Given the description of an element on the screen output the (x, y) to click on. 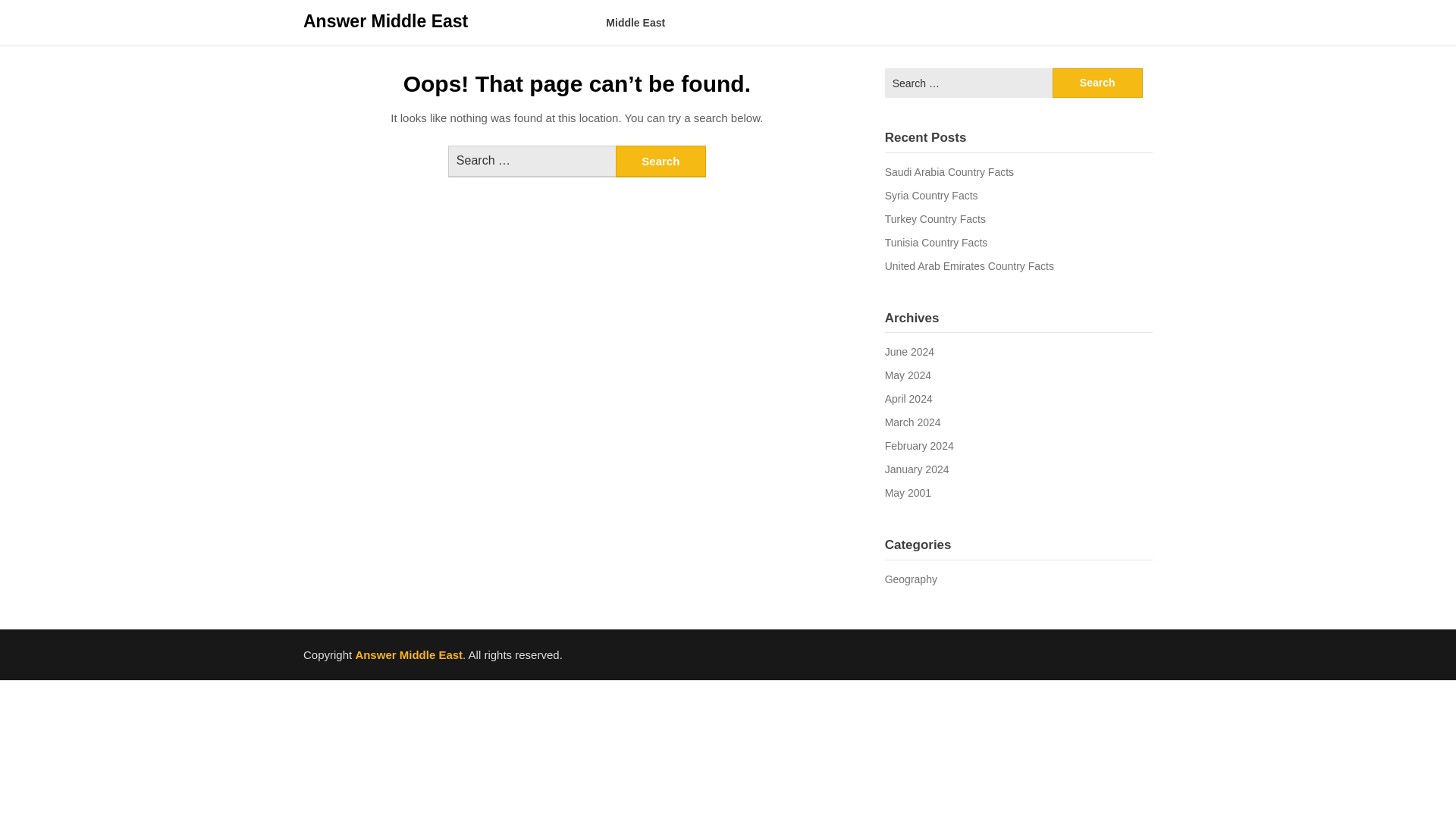
May 2001 (908, 492)
Syria Country Facts (931, 195)
April 2024 (909, 398)
Search (1097, 82)
Search (1097, 82)
Answer Middle East (384, 21)
Answer Middle East (409, 654)
Saudi Arabia Country Facts (949, 172)
Search (660, 161)
Tunisia Country Facts (936, 242)
January 2024 (917, 469)
Search (660, 161)
June 2024 (909, 351)
Middle East (635, 22)
